Given the description of an element on the screen output the (x, y) to click on. 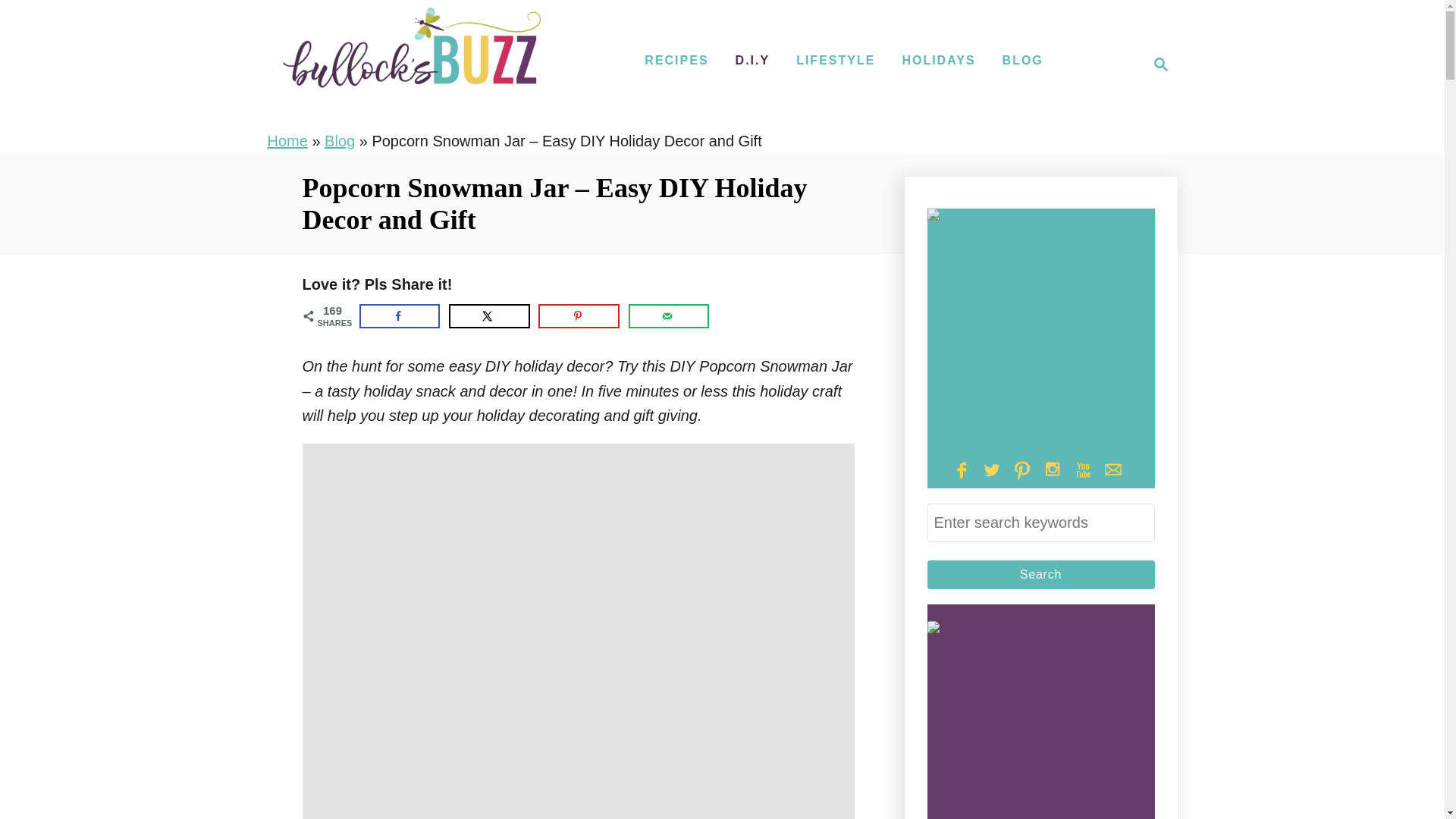
BLOG (1022, 60)
Magnifying Glass (1160, 64)
Blog (1155, 64)
D.I.Y (339, 140)
Send over email (752, 60)
Search for: (669, 315)
Search (1040, 522)
Home (1040, 574)
HOLIDAYS (286, 140)
LIFESTYLE (937, 60)
RECIPES (835, 60)
Skip to Content (676, 60)
Search (488, 315)
